Given the description of an element on the screen output the (x, y) to click on. 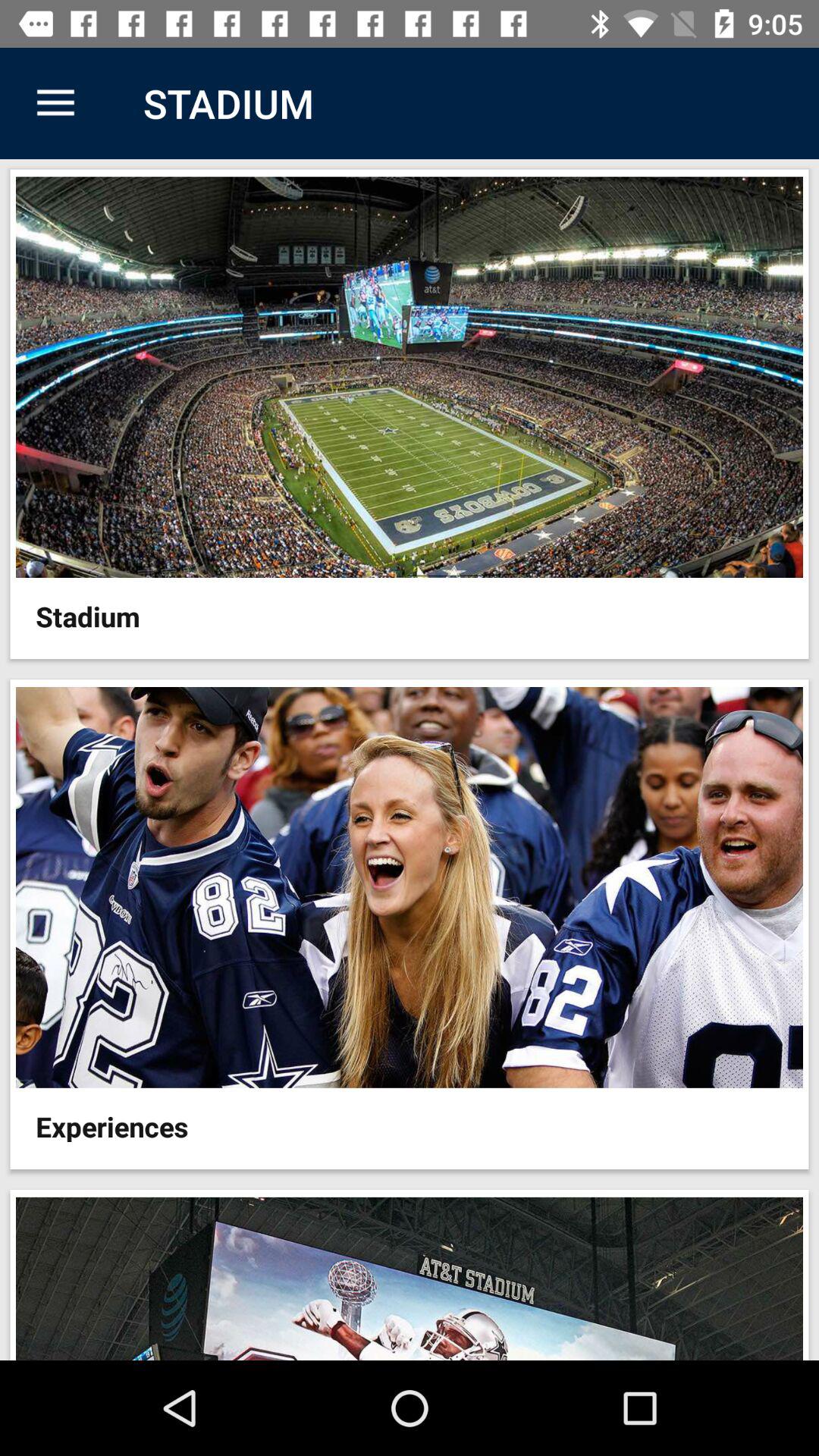
click the icon to the left of stadium (55, 103)
